Given the description of an element on the screen output the (x, y) to click on. 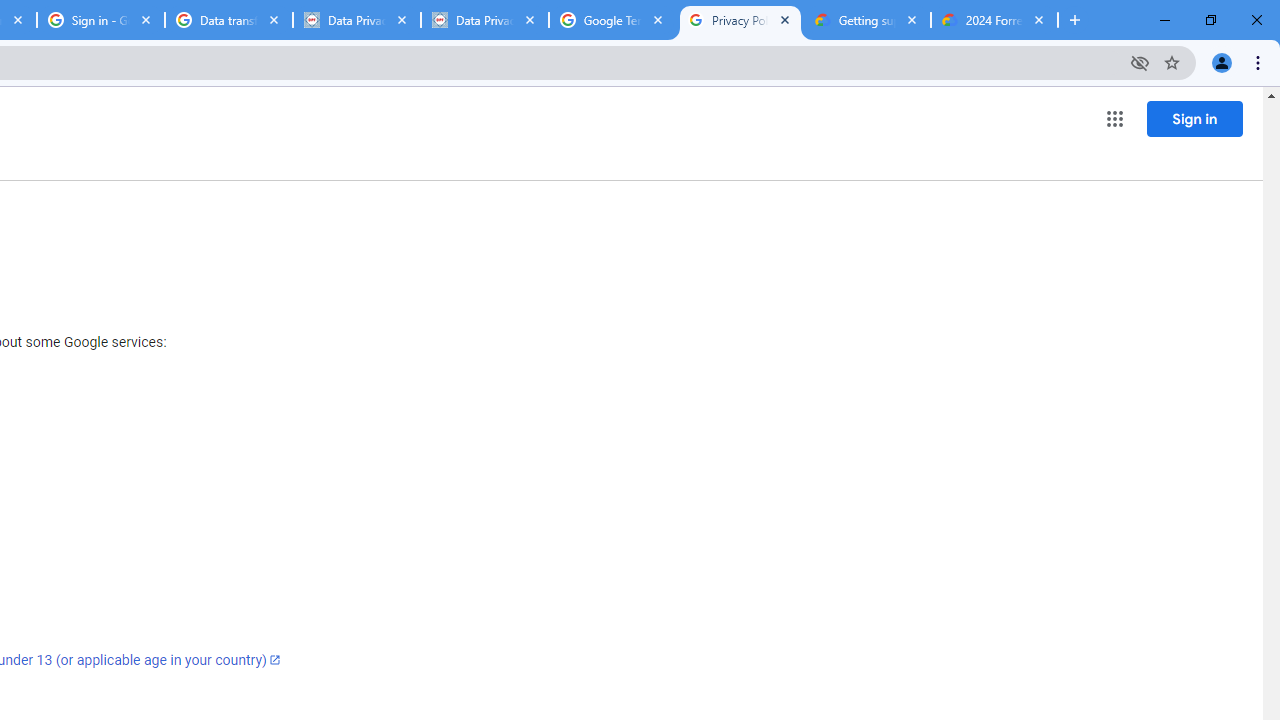
Data Privacy Framework (485, 20)
